Given the description of an element on the screen output the (x, y) to click on. 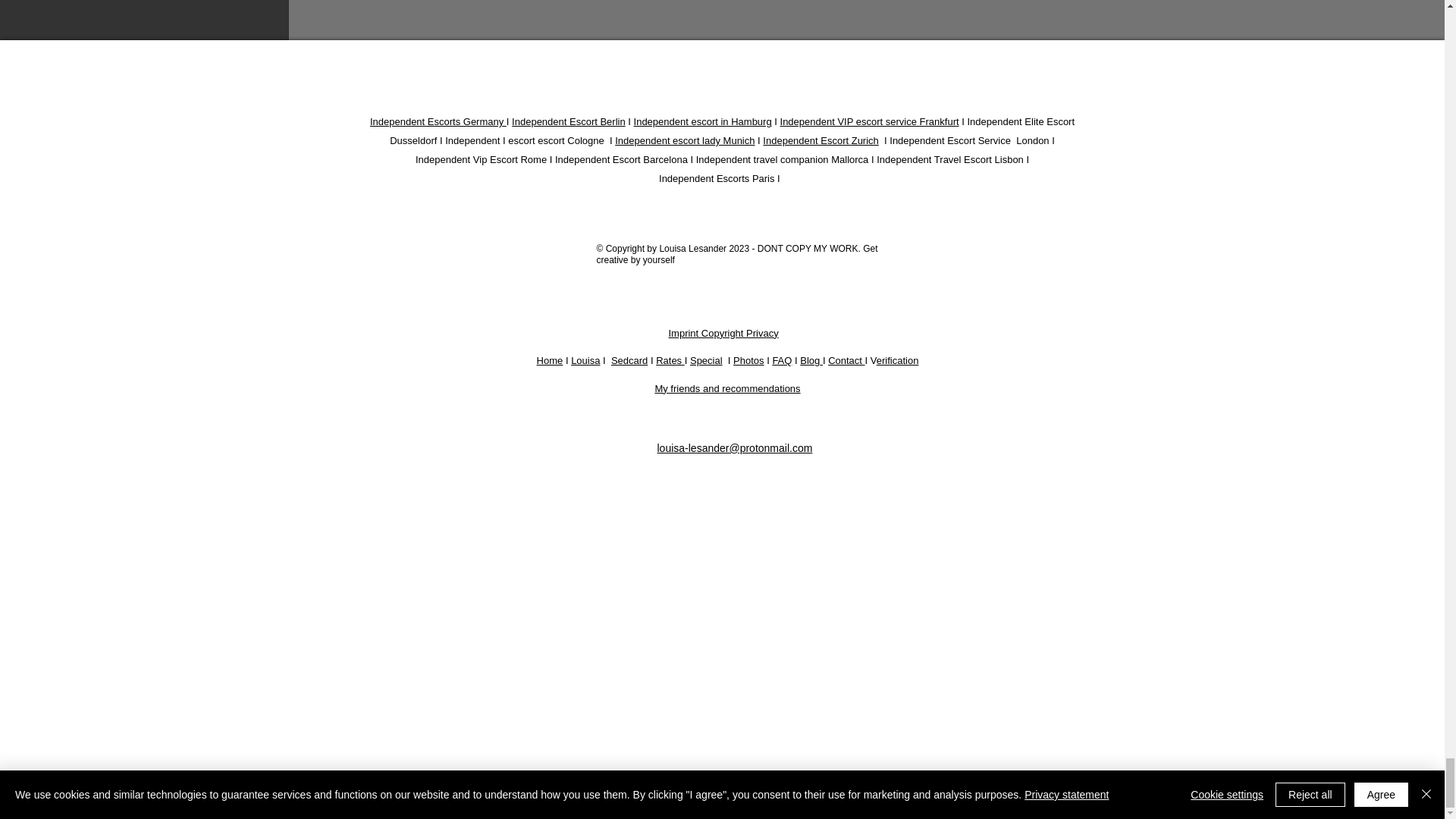
Independent Escort Berlin (569, 121)
Independent escort in Hamburg (702, 121)
Rates  (670, 360)
Louisa (584, 360)
Independent VIP escort service Frankfurt (869, 121)
Independent Escort Zurich (819, 140)
Contact  (846, 360)
Special (706, 360)
Blog (809, 360)
FAQ (781, 360)
